Given the description of an element on the screen output the (x, y) to click on. 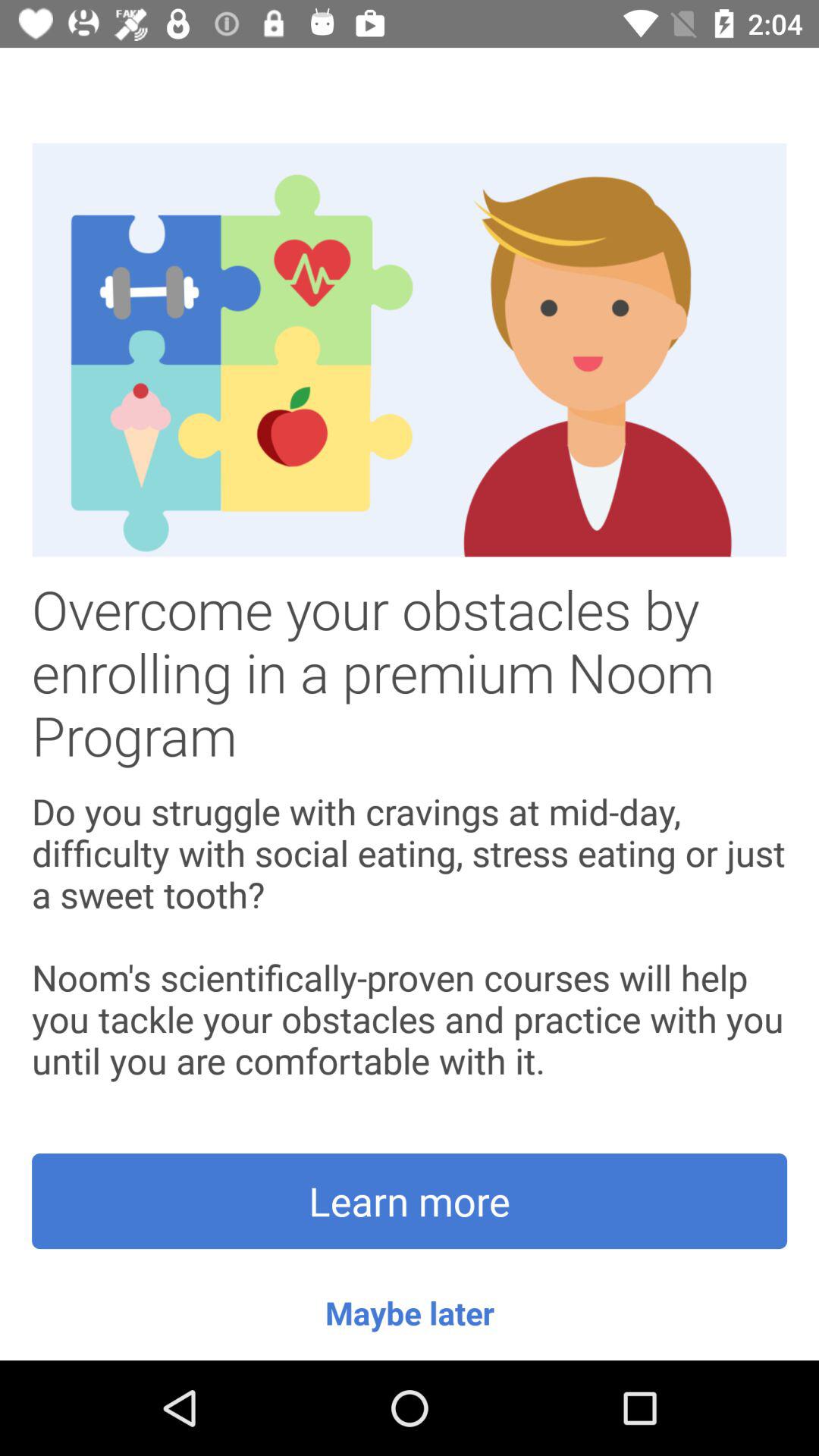
jump until learn more icon (409, 1200)
